Given the description of an element on the screen output the (x, y) to click on. 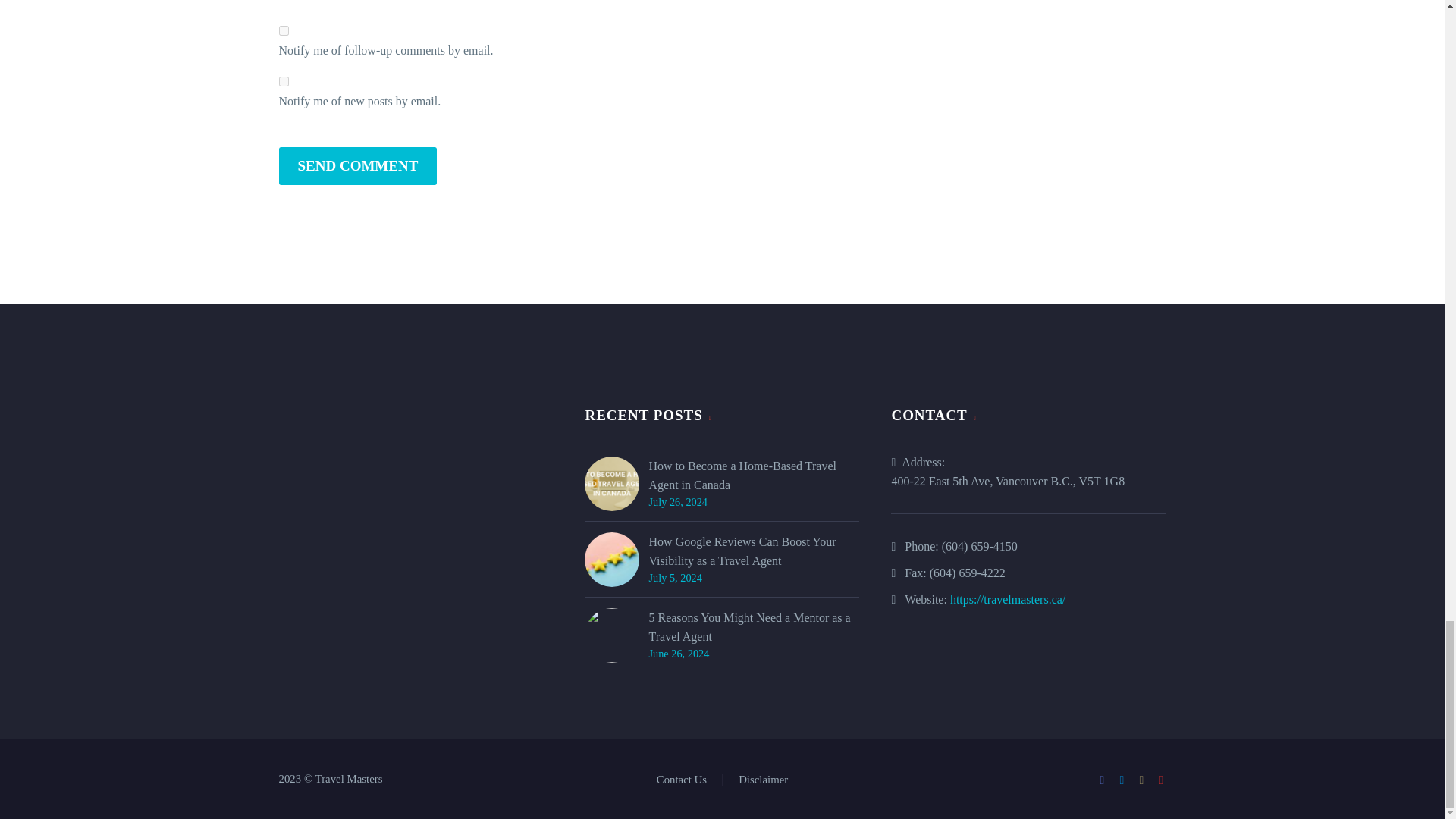
subscribe (283, 30)
subscribe (283, 81)
LinkedIn (1122, 779)
Facebook (1102, 779)
SEND COMMENT (358, 166)
How to Become a Home-Based Travel Agent in Canada (753, 475)
